Given the description of an element on the screen output the (x, y) to click on. 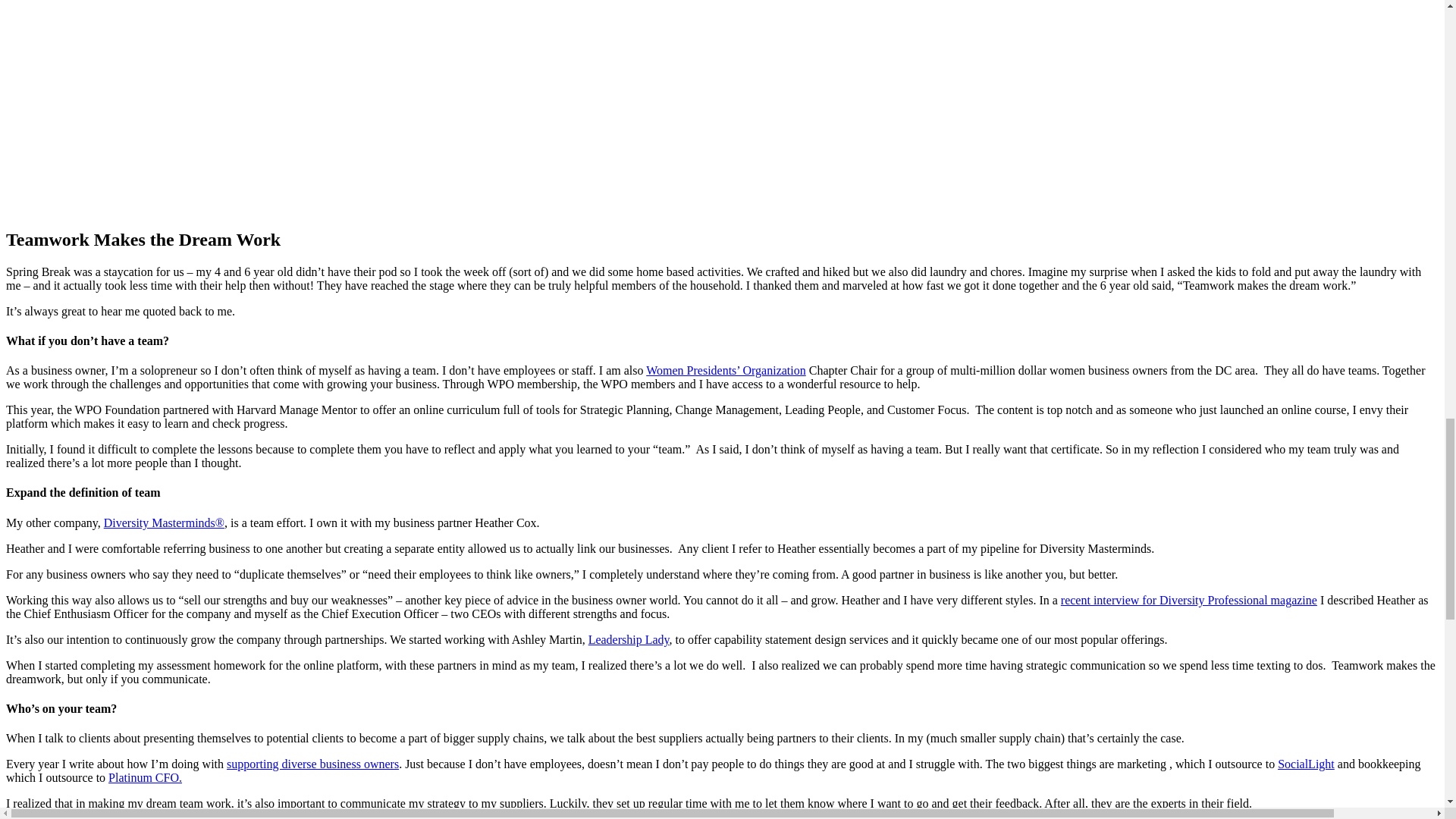
Platinum CFO. (144, 777)
SocialLight (1306, 763)
supporting diverse business owners (312, 763)
Leadership Lady (628, 639)
recent interview for Diversity Professional magazine (1189, 599)
